Given the description of an element on the screen output the (x, y) to click on. 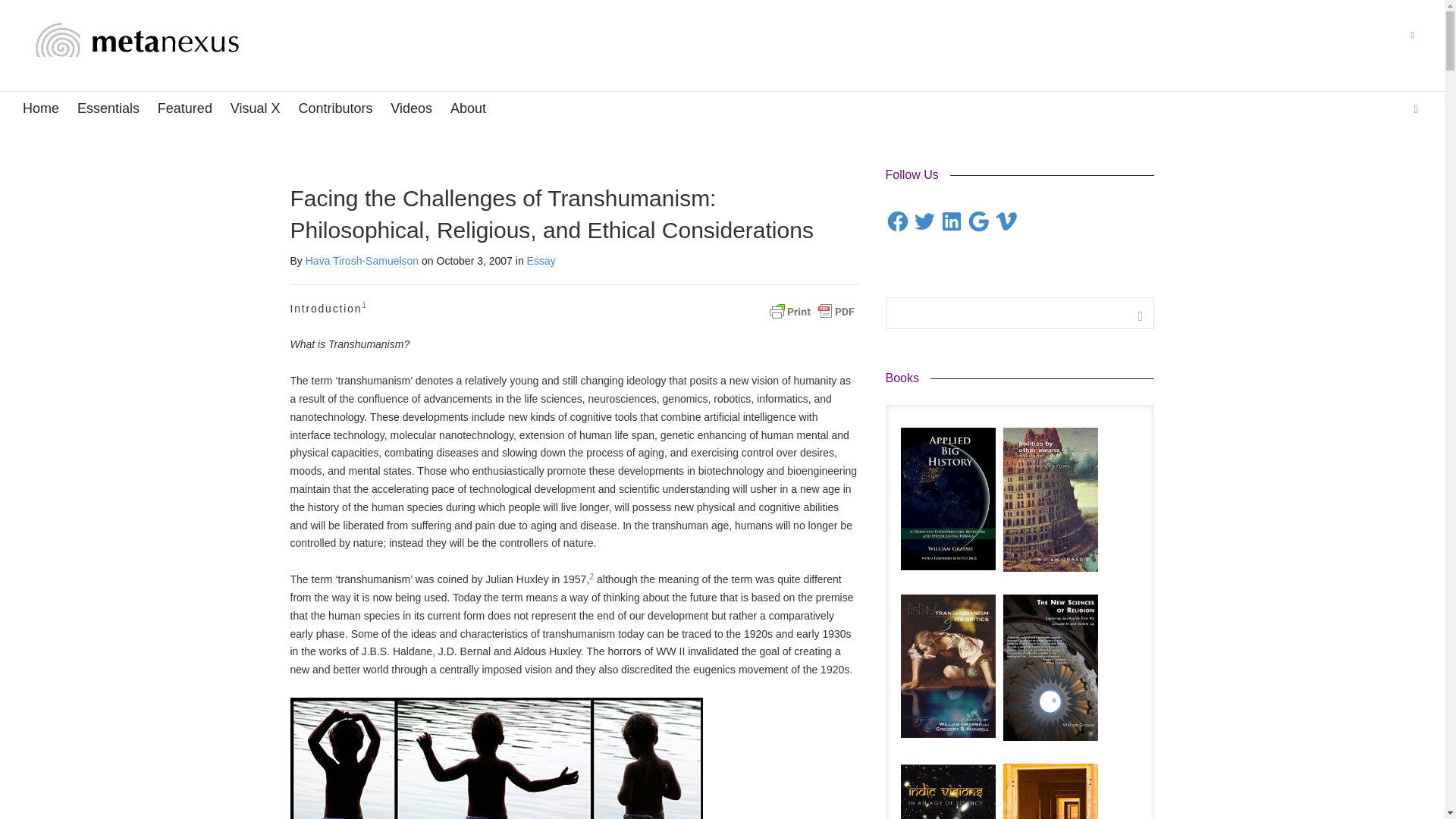
Essentials (108, 109)
About (467, 109)
Hava Tirosh-Samuelson (362, 260)
Contributors (335, 109)
Home (41, 109)
Videos (411, 109)
Essay (541, 260)
Visual X (255, 109)
Featured (184, 109)
